Given the description of an element on the screen output the (x, y) to click on. 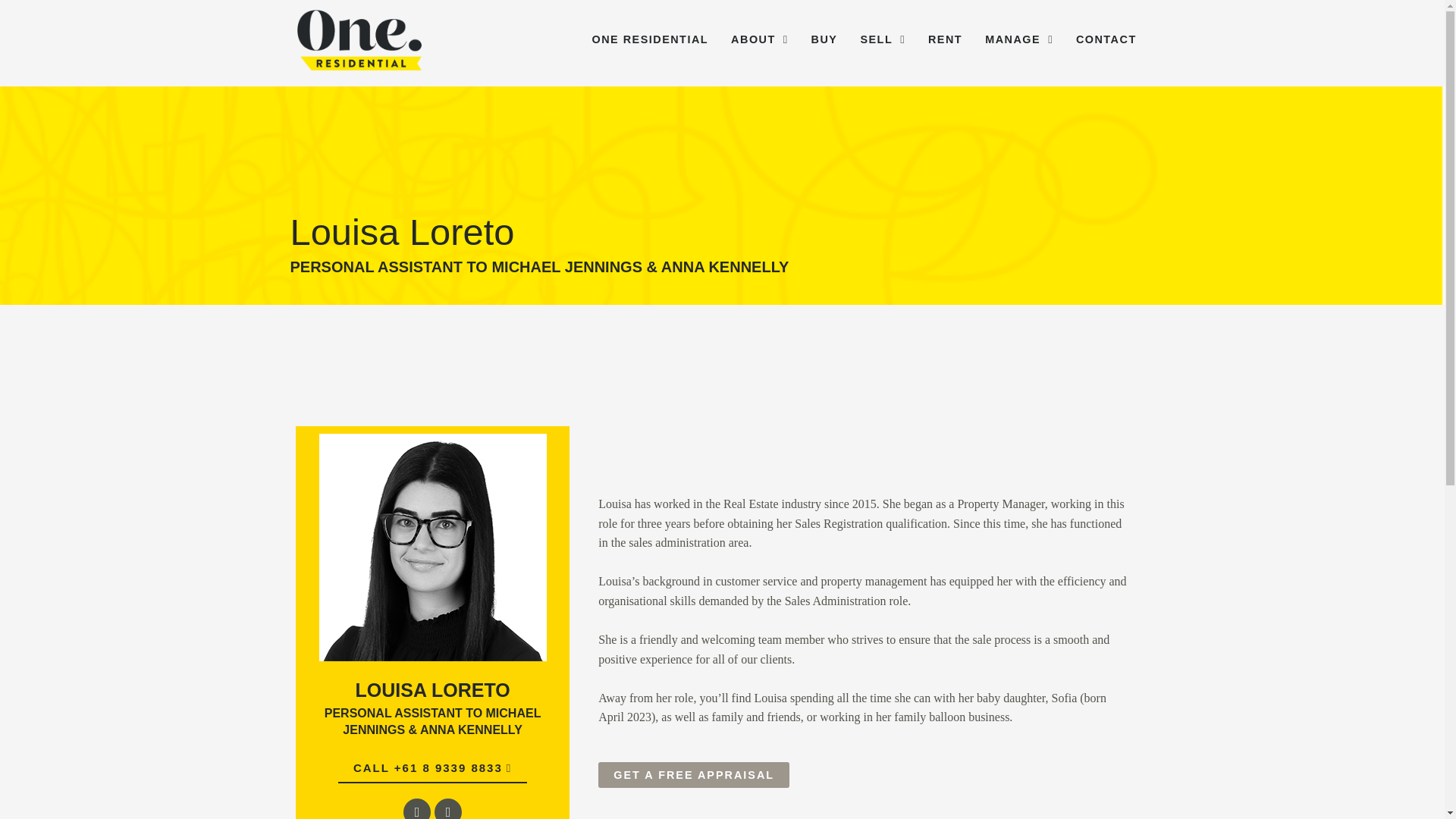
ONE RESIDENTIAL (649, 39)
RENT (944, 39)
MANAGE (1018, 39)
SELL (881, 39)
CONTACT (1106, 39)
ABOUT (758, 39)
BUY (824, 39)
